Given the description of an element on the screen output the (x, y) to click on. 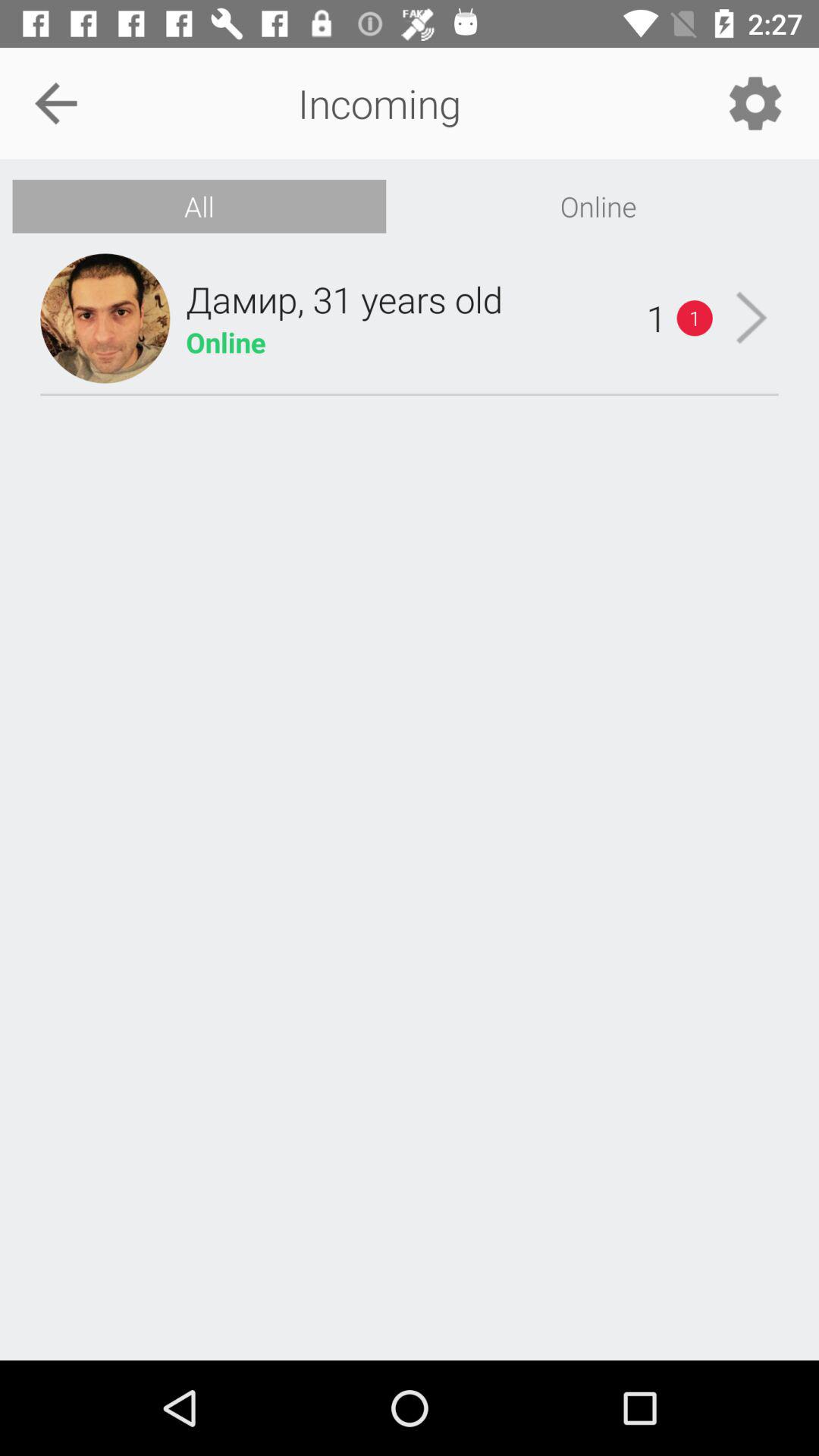
turn on all item (199, 206)
